Given the description of an element on the screen output the (x, y) to click on. 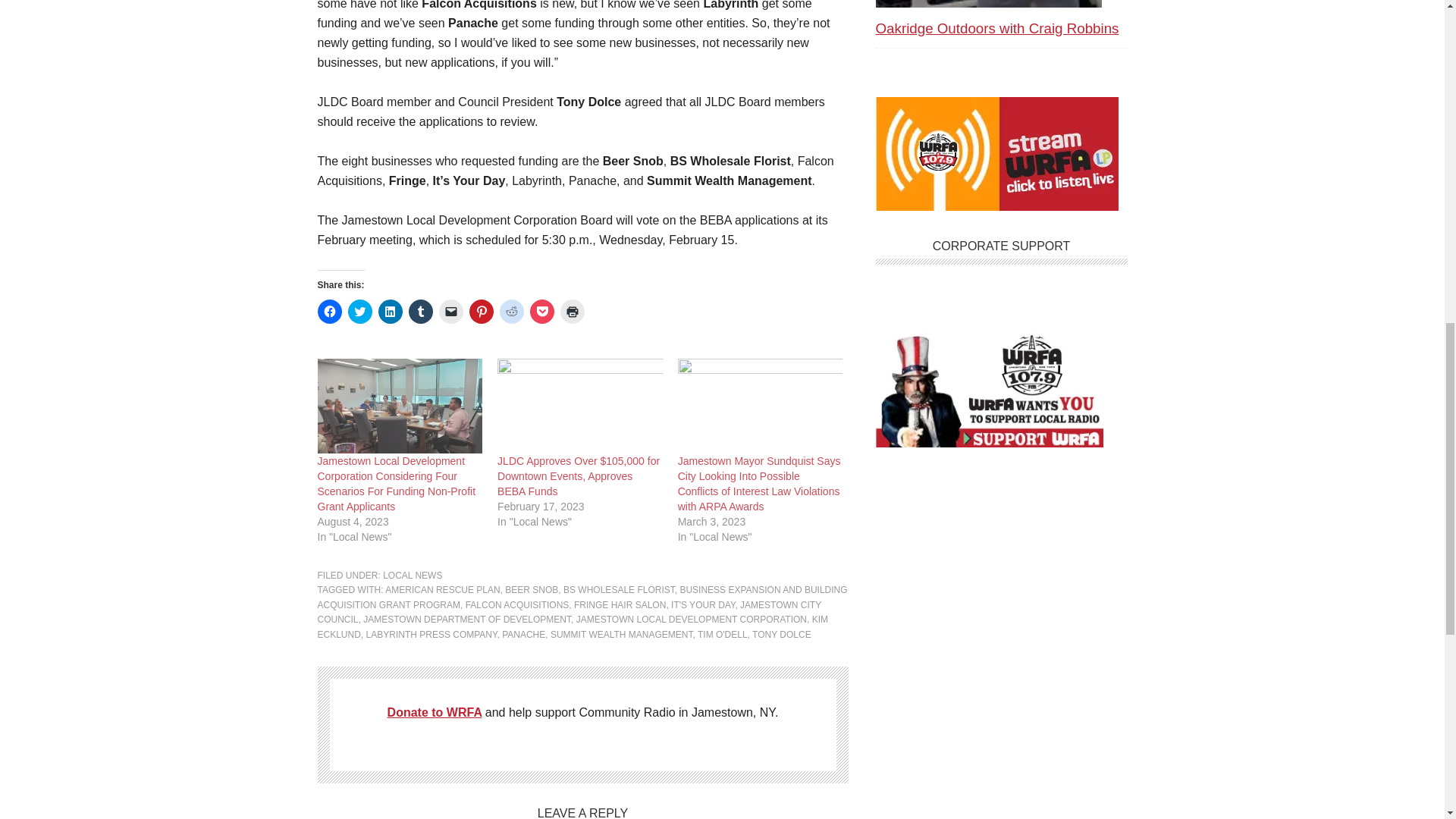
Click to email a link to a friend (450, 311)
Click to share on Pinterest (480, 311)
Click to share on Twitter (359, 311)
Click to print (571, 311)
Click to share on LinkedIn (389, 311)
Click to share on Tumblr (419, 311)
Click to share on Reddit (510, 311)
Click to share on Facebook (328, 311)
Click to share on Pocket (541, 311)
